Given the description of an element on the screen output the (x, y) to click on. 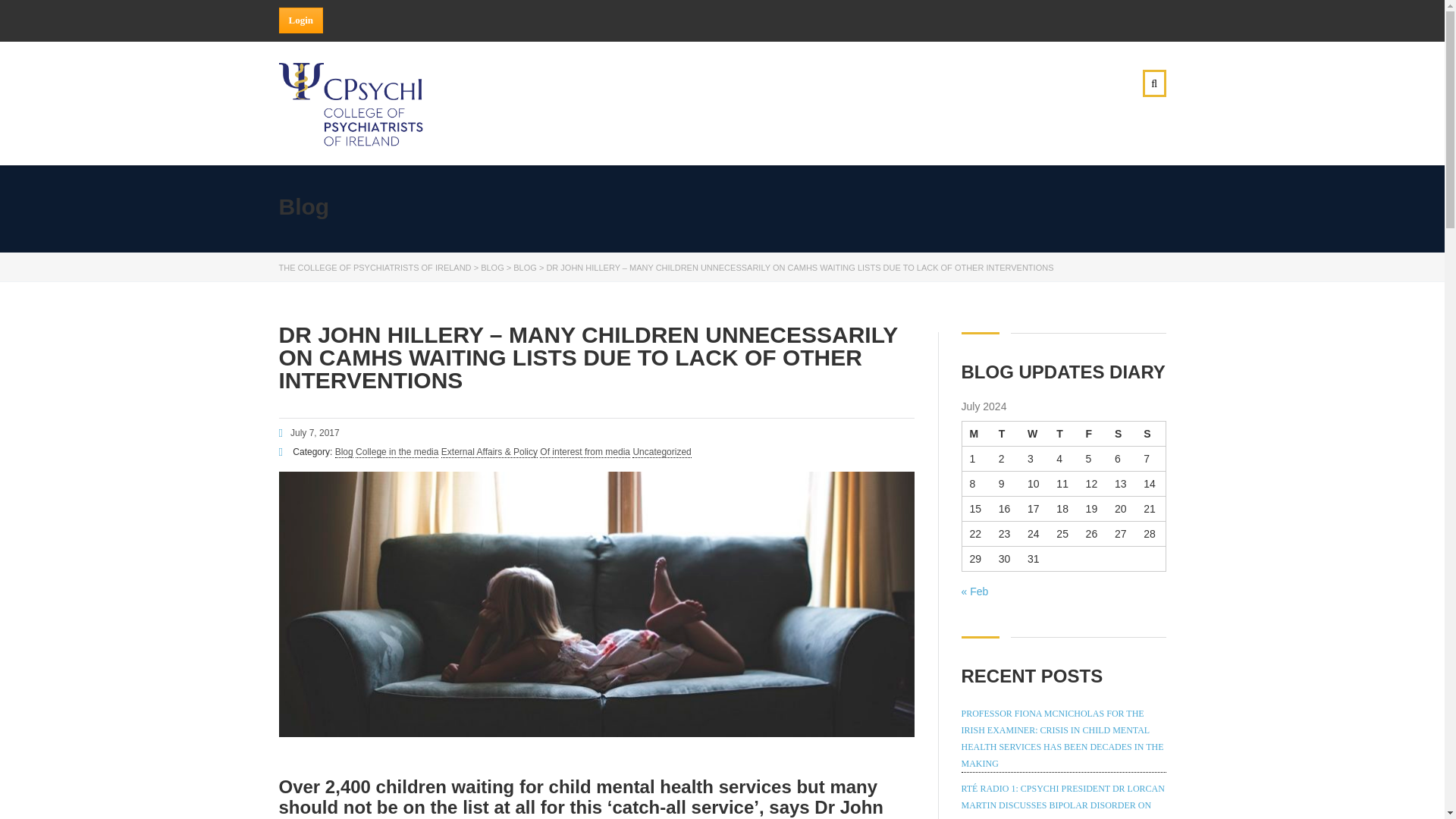
BLOG (491, 266)
Wednesday (1034, 432)
Go to Blog. (491, 266)
THE COLLEGE OF PSYCHIATRISTS OF IRELAND (375, 266)
Uncategorized (660, 451)
Login (301, 20)
Tuesday (1005, 432)
BLOG (525, 266)
College in the media (396, 451)
Go to The College of Psychiatrists of Ireland. (375, 266)
Saturday (1120, 432)
Of interest from media (585, 451)
Sunday (1150, 432)
Go to the Blog category archives. (525, 266)
